Given the description of an element on the screen output the (x, y) to click on. 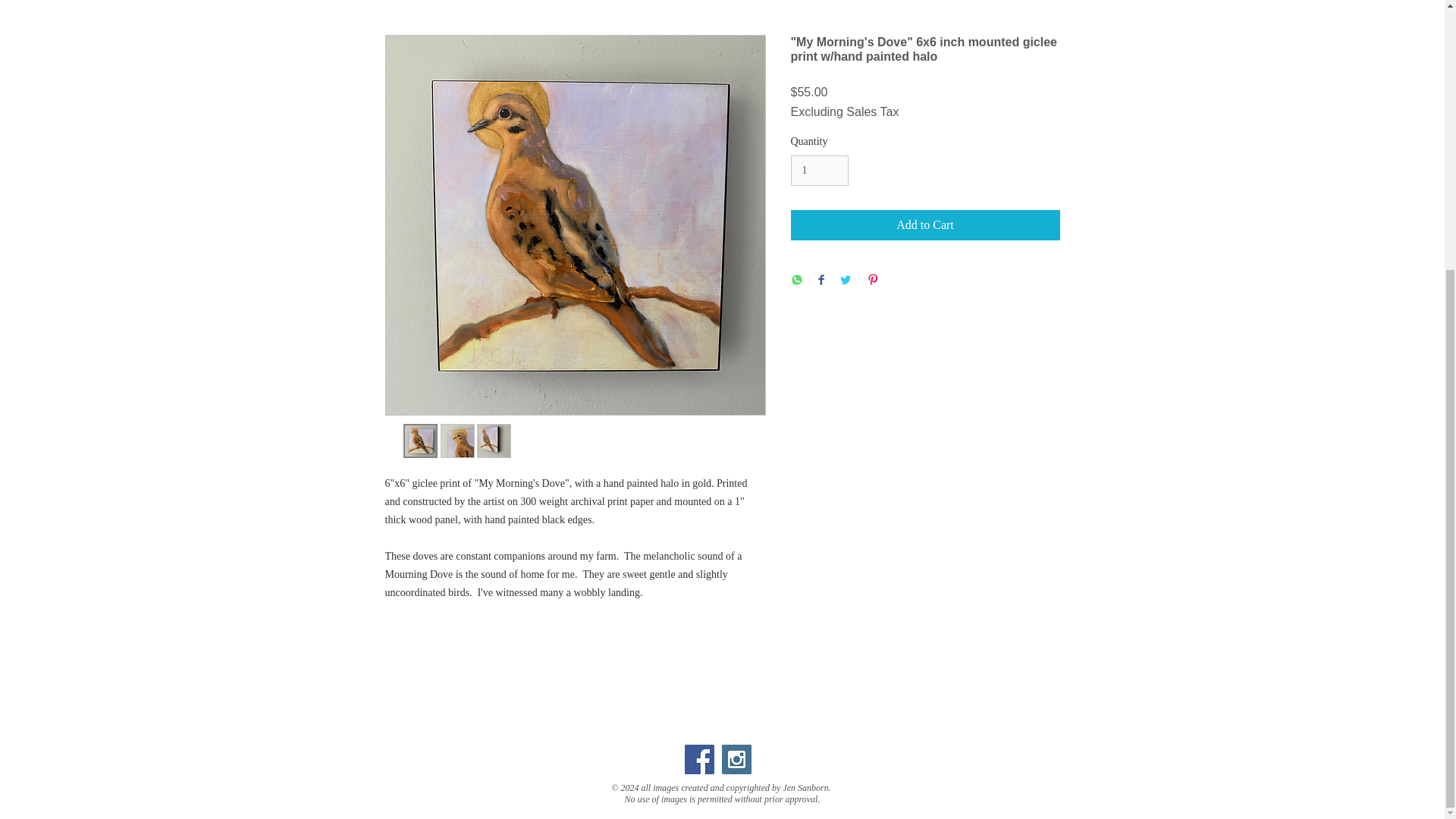
Add to Cart (924, 224)
1 (818, 170)
